Given the description of an element on the screen output the (x, y) to click on. 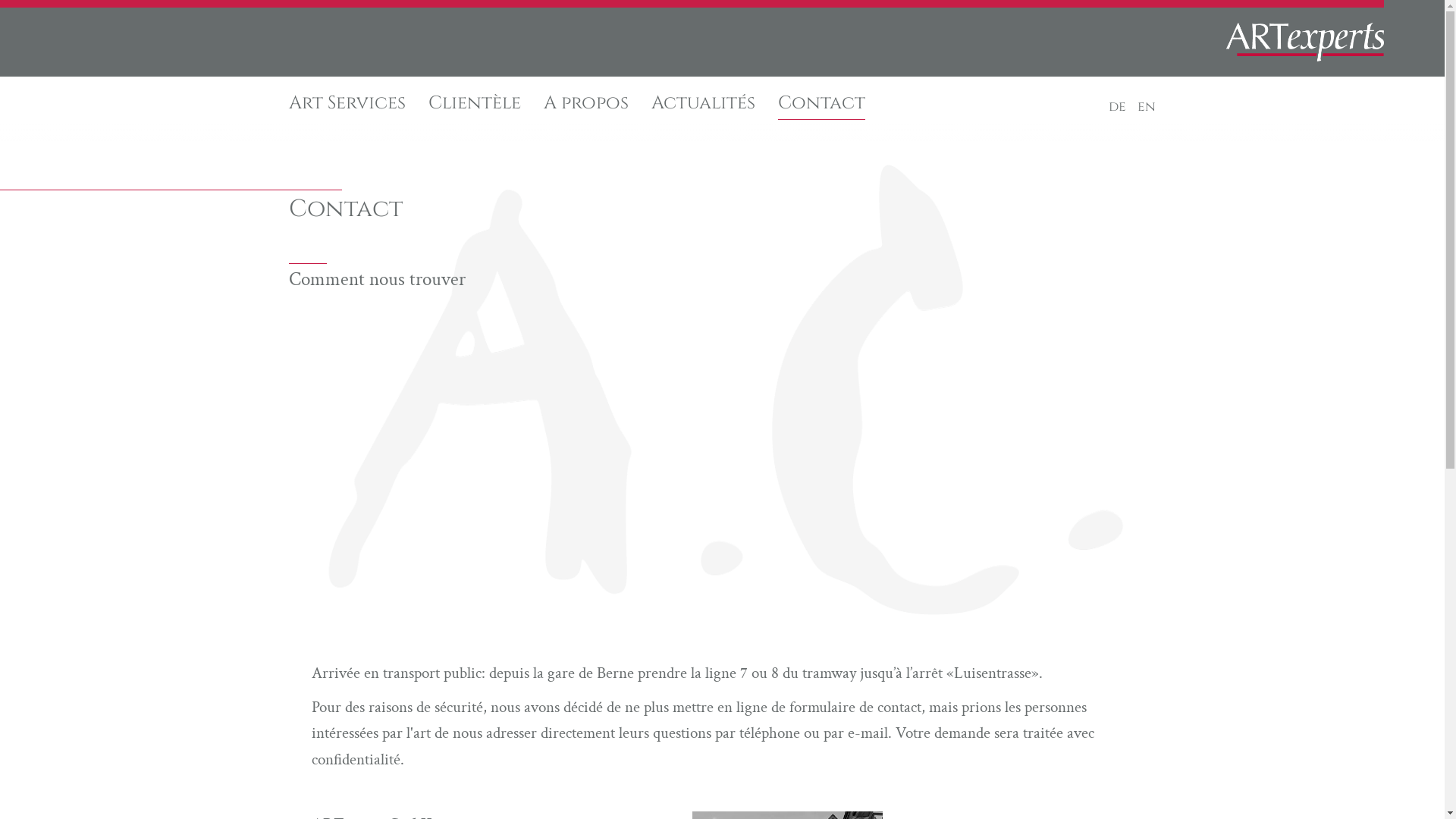
Contact Element type: text (821, 103)
Art Services Element type: text (346, 103)
de Element type: text (1117, 106)
en Element type: text (1146, 106)
A propos Element type: text (585, 103)
